Given the description of an element on the screen output the (x, y) to click on. 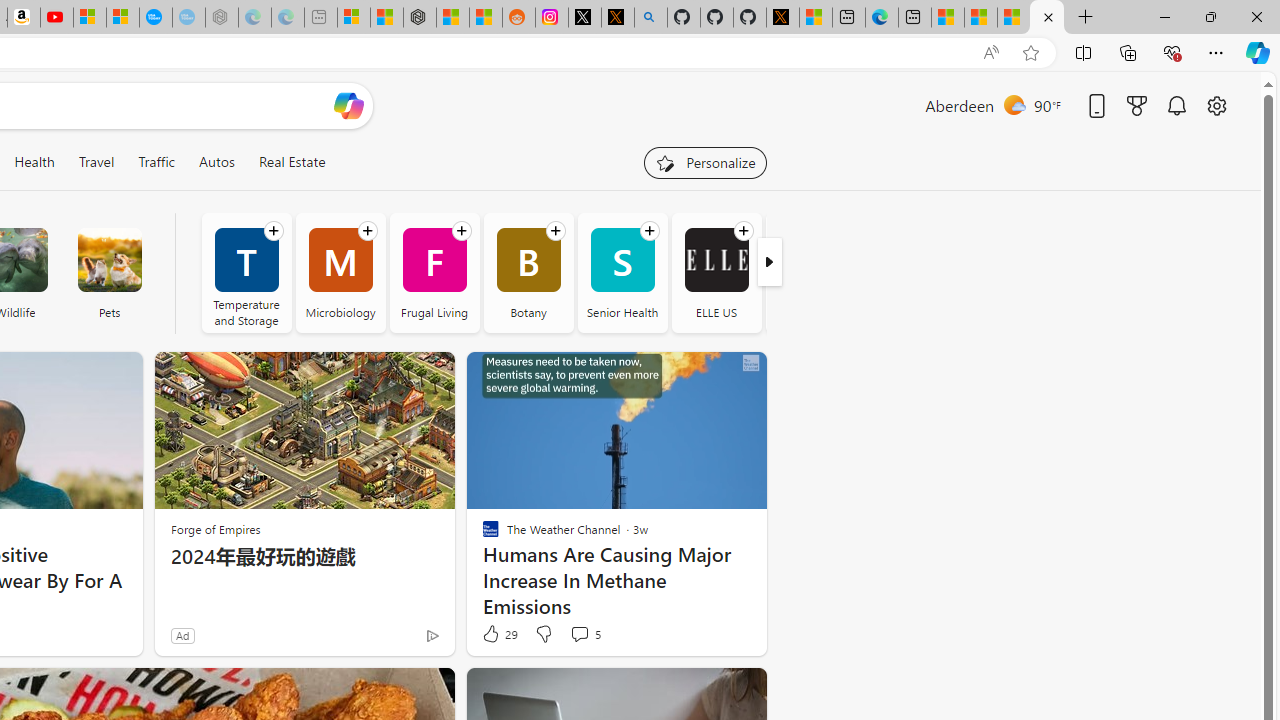
The most popular Google 'how to' searches - Sleeping (188, 17)
Health (34, 162)
Hide this story (706, 691)
See more (742, 691)
Botany (527, 272)
Pets (109, 260)
MSNBC - MSN (981, 17)
Day 1: Arriving in Yemen (surreal to be here) - YouTube (56, 17)
Autos (216, 161)
ELLE US (715, 272)
ELLE US (715, 260)
